Given the description of an element on the screen output the (x, y) to click on. 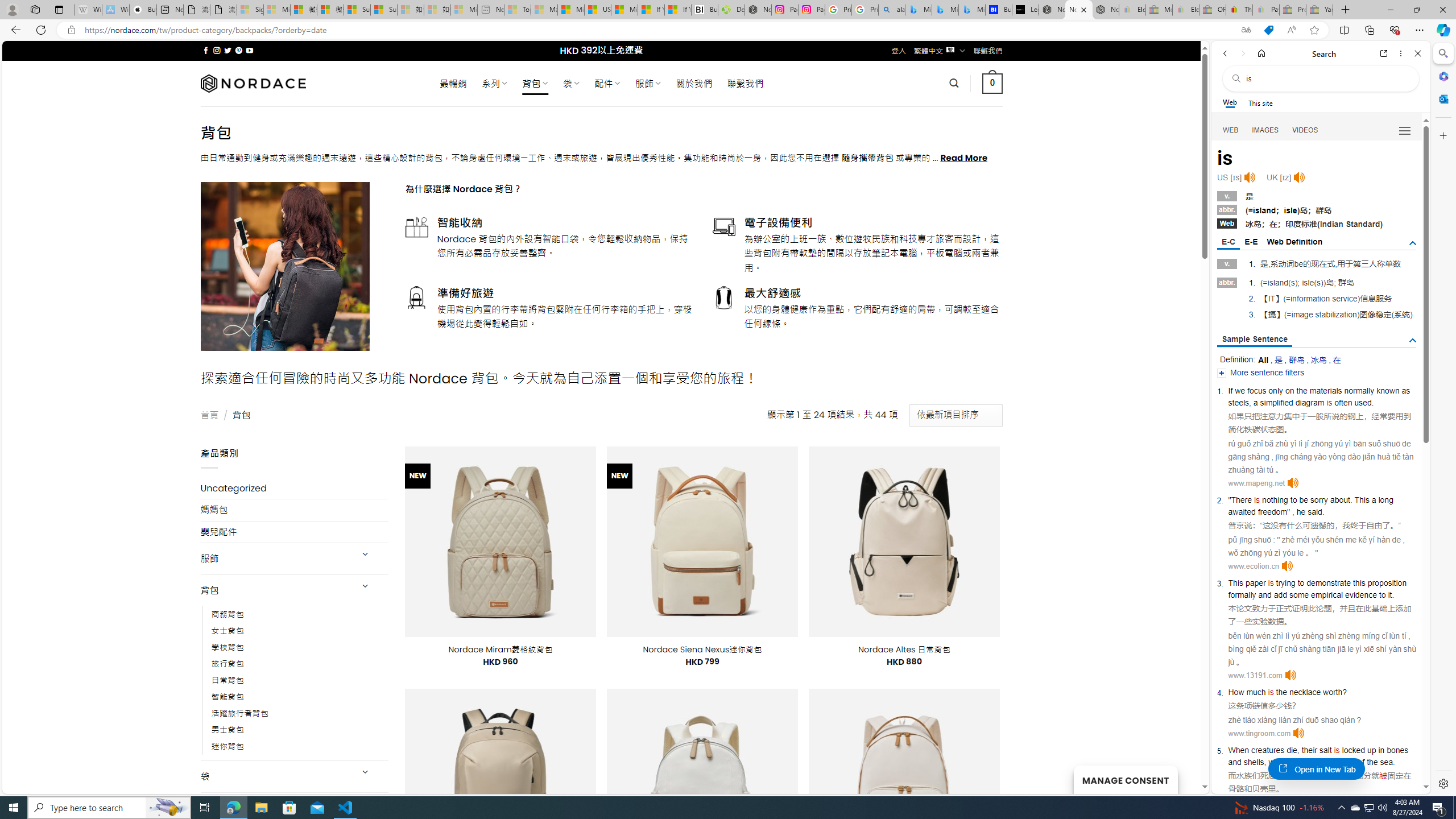
salt (1325, 750)
simplified (1275, 402)
drop (1299, 761)
Uncategorized (294, 488)
in (1380, 750)
